Given the description of an element on the screen output the (x, y) to click on. 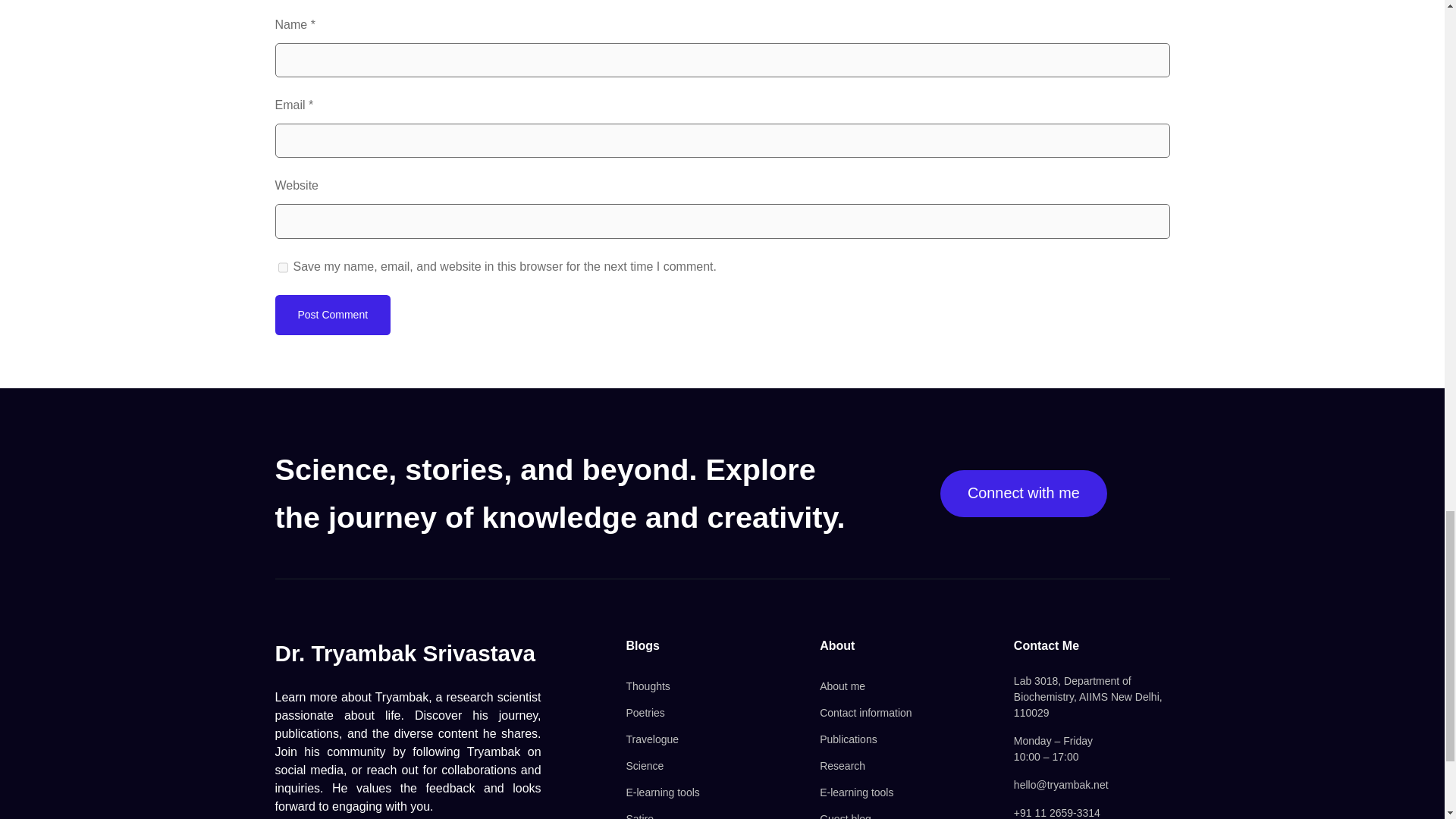
Post Comment (332, 314)
